Given the description of an element on the screen output the (x, y) to click on. 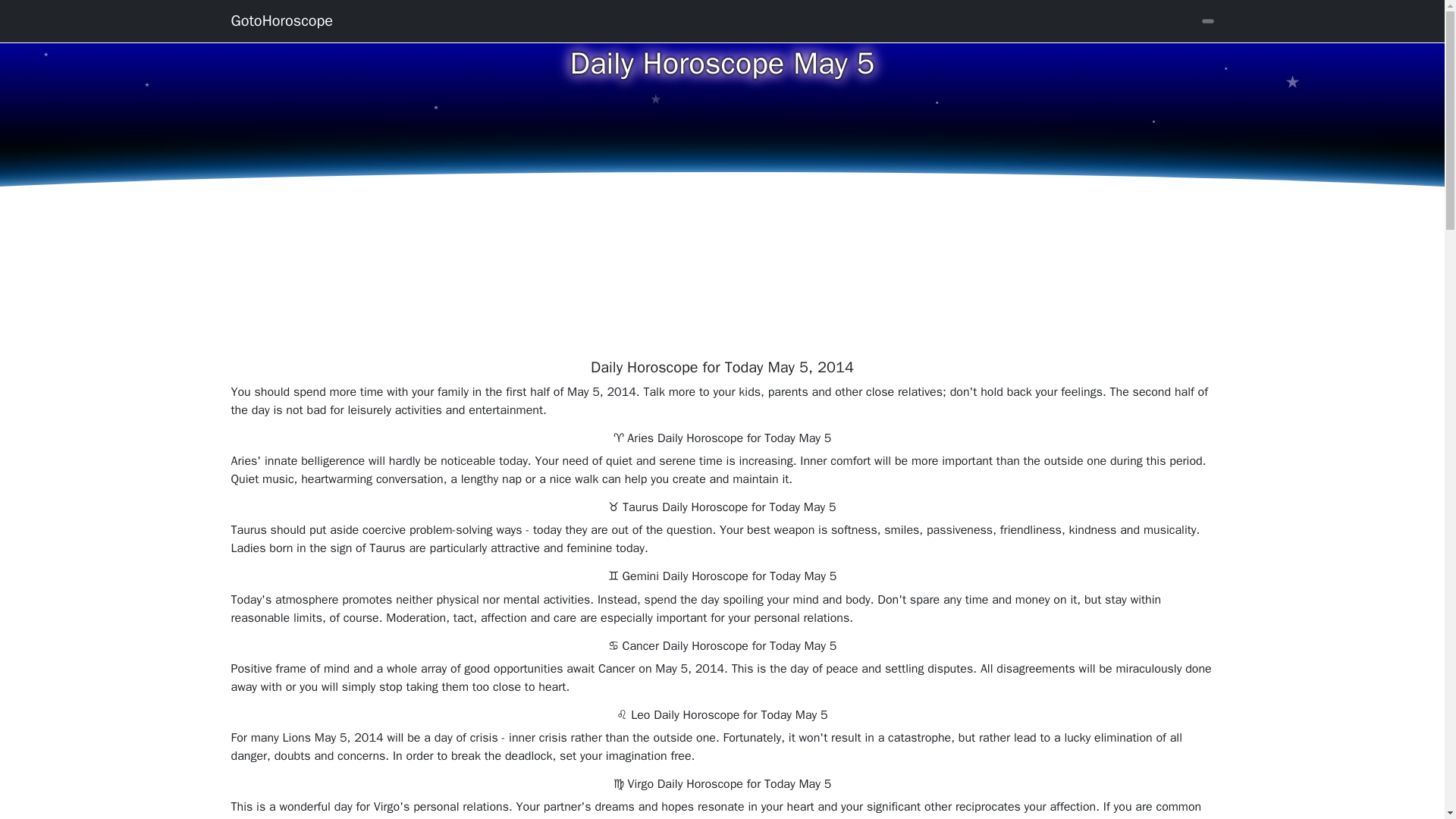
Goto Horoscope Home (281, 20)
GotoHoroscope (281, 20)
